Given the description of an element on the screen output the (x, y) to click on. 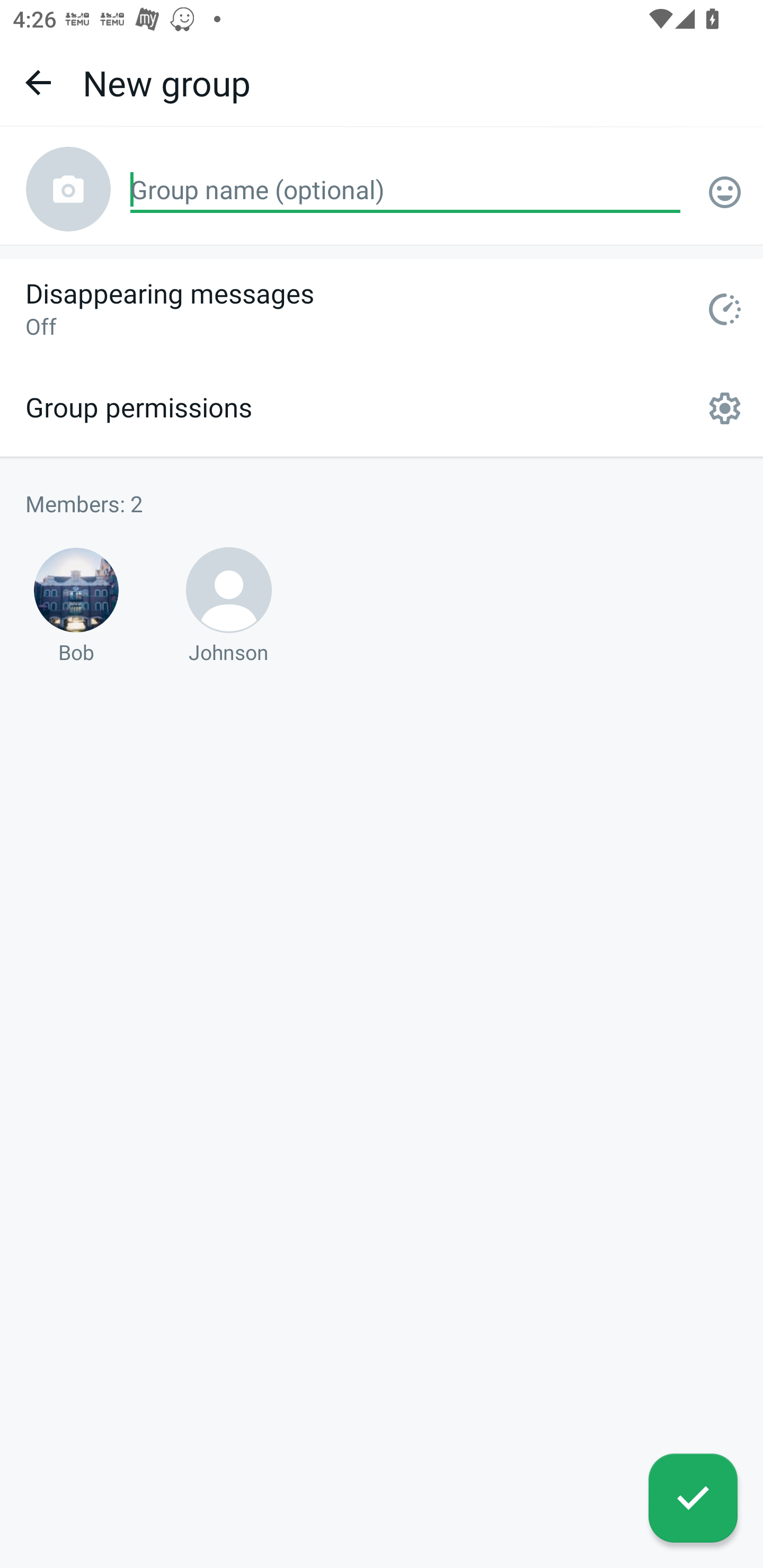
Navigate up (38, 82)
Group icon (68, 188)
Emoji (724, 191)
Group name (optional) (404, 190)
Disappearing messages Off (381, 309)
Group permissions (381, 408)
Create (692, 1497)
